Given the description of an element on the screen output the (x, y) to click on. 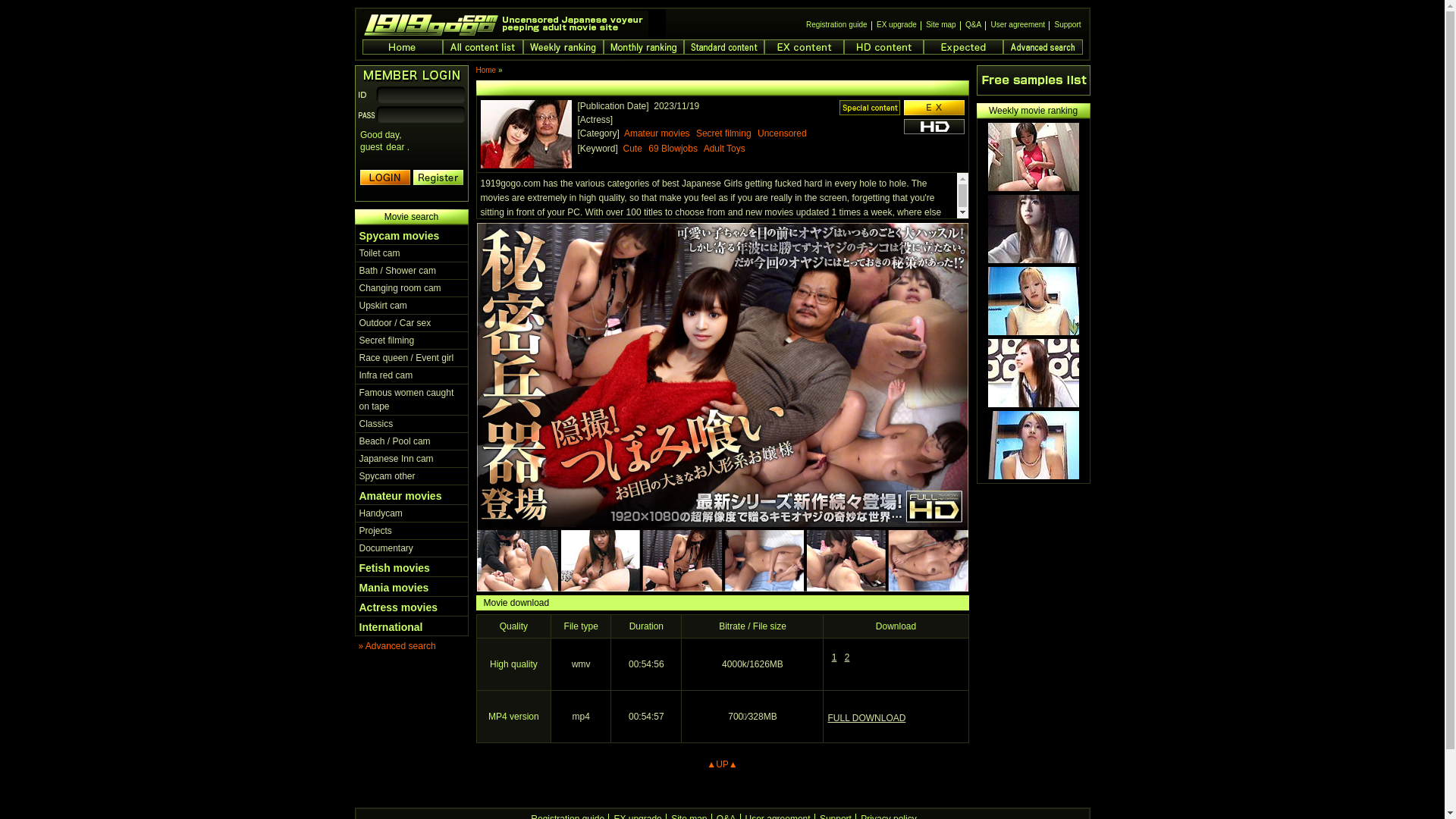
Adult Toys Element type: text (726, 148)
Expected Element type: text (963, 46)
Normal content Element type: text (724, 46)
User agreement Element type: text (1017, 25)
1 Element type: text (833, 657)
Secret filming Element type: text (725, 133)
Documentary Element type: text (386, 547)
Site map Element type: text (940, 25)
Projects Element type: text (375, 530)
Race queen / Event girl Element type: text (406, 357)
Home Element type: text (402, 46)
69 Blowjobs Element type: text (674, 148)
Registration guide Element type: text (836, 25)
Beach / Pool cam Element type: text (394, 441)
FULL DOWNLOAD Element type: text (866, 717)
International Element type: text (391, 627)
Classics Element type: text (376, 423)
Mania movies Element type: text (394, 587)
Q&A Element type: text (973, 25)
Support Element type: text (1067, 25)
Amateur movies Element type: text (658, 133)
Changing room cam Element type: text (400, 287)
EX content Element type: text (804, 46)
Amateur movies Element type: text (400, 495)
Fetish movies Element type: text (394, 567)
Advanced search Element type: text (1042, 46)
Handycam Element type: text (380, 513)
Secret filming Element type: text (386, 340)
All content list Element type: text (482, 46)
Toilet cam Element type: text (379, 252)
Home Element type: text (486, 69)
Japanese Inn cam Element type: text (396, 458)
Infra red cam Element type: text (386, 375)
Spycam other Element type: text (387, 475)
EX upgrade Element type: text (896, 25)
Bath / Shower cam Element type: text (397, 270)
Weekly ranking Element type: text (563, 46)
Cute Element type: text (634, 148)
Uncensored Element type: text (783, 133)
Actress movies Element type: text (398, 607)
2 Element type: text (846, 657)
Monthly ranking Element type: text (643, 46)
Spycam movies Element type: text (399, 235)
Outdoor / Car sex Element type: text (395, 322)
Upskirt cam Element type: text (383, 305)
HD content Element type: text (882, 46)
Famous women caught on tape Element type: text (406, 399)
